Given the description of an element on the screen output the (x, y) to click on. 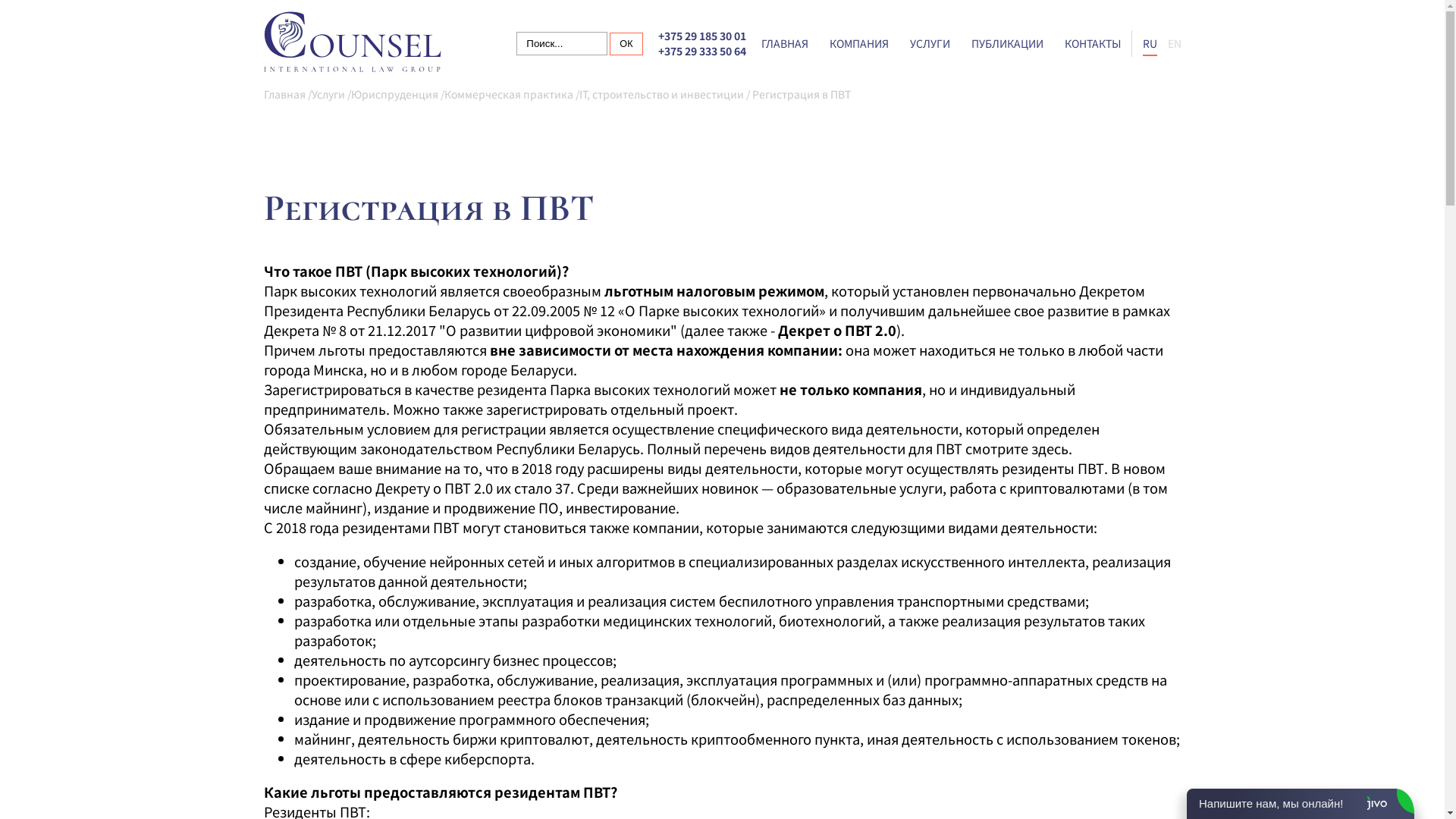
+375 29 333 50 64 Element type: text (702, 50)
+375 29 185 30 01 Element type: text (702, 35)
EN Element type: text (1174, 42)
RU Element type: text (1149, 42)
